Given the description of an element on the screen output the (x, y) to click on. 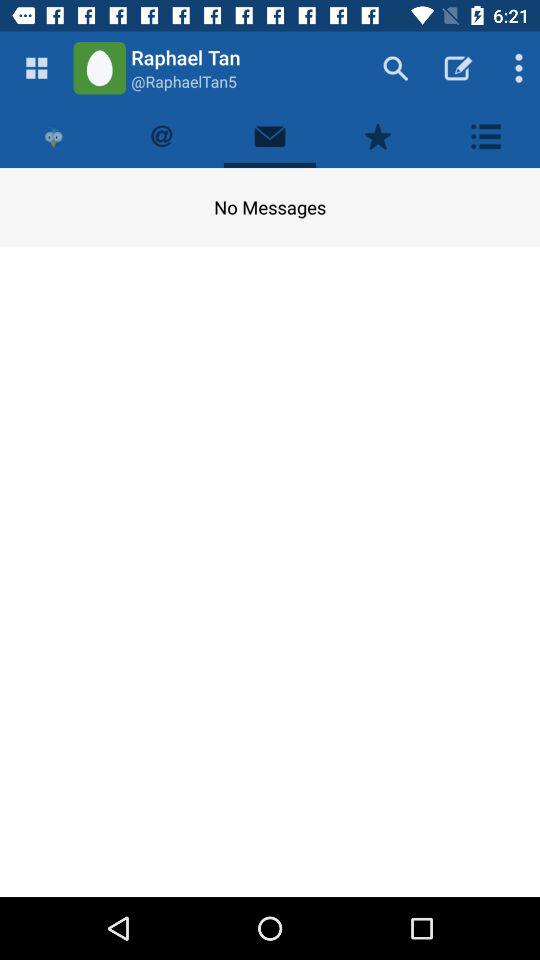
sitting (486, 136)
